Given the description of an element on the screen output the (x, y) to click on. 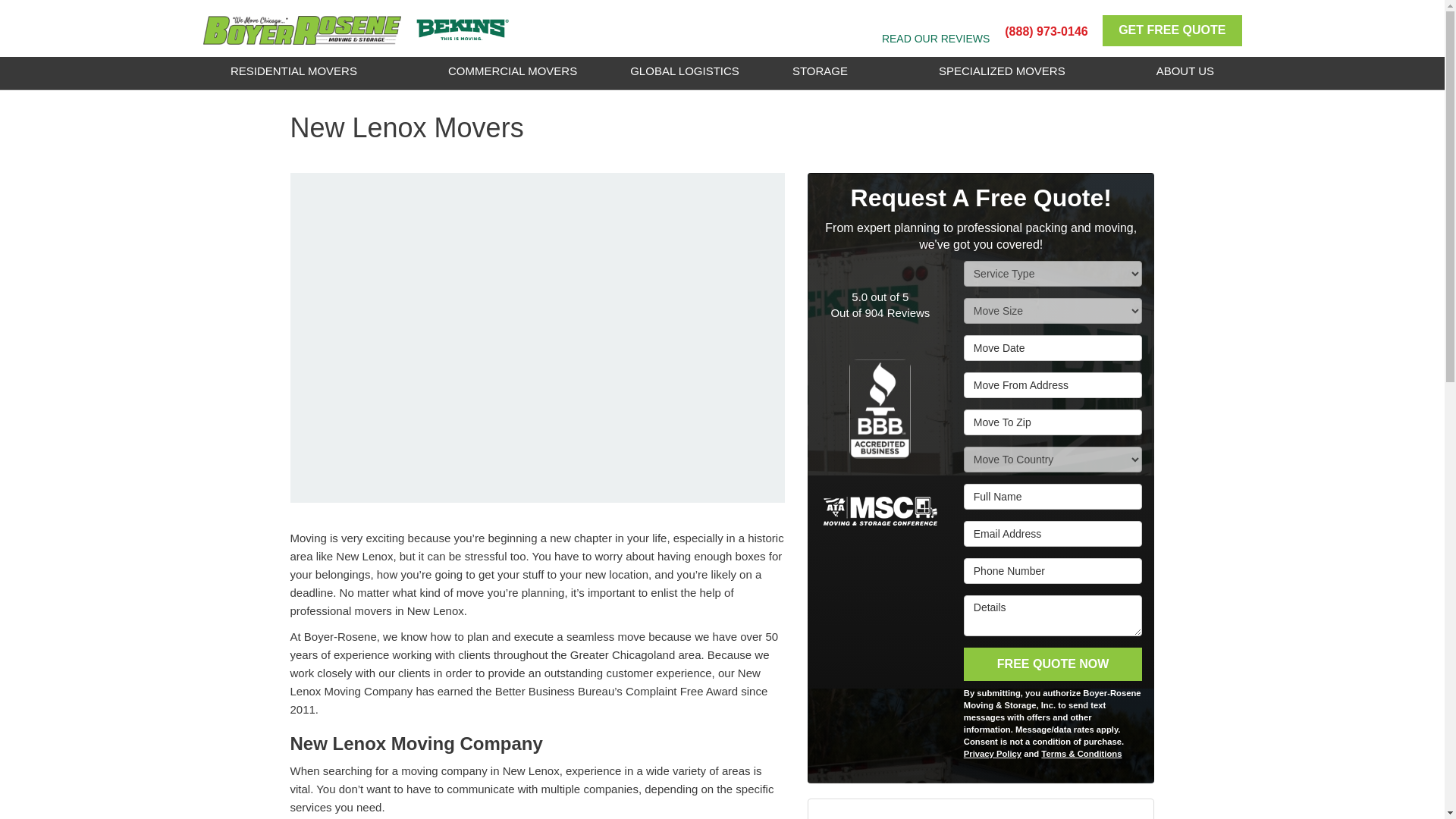
GET FREE QUOTE (1171, 30)
ABOUT US (1184, 70)
SPECIALIZED MOVERS (1002, 70)
STORAGE (820, 70)
GET FREE QUOTE (1171, 30)
GLOBAL LOGISTICS (684, 70)
COMMERCIAL MOVERS (513, 70)
RESIDENTIAL MOVERS (293, 70)
READ OUR REVIEWS (936, 38)
